Given the description of an element on the screen output the (x, y) to click on. 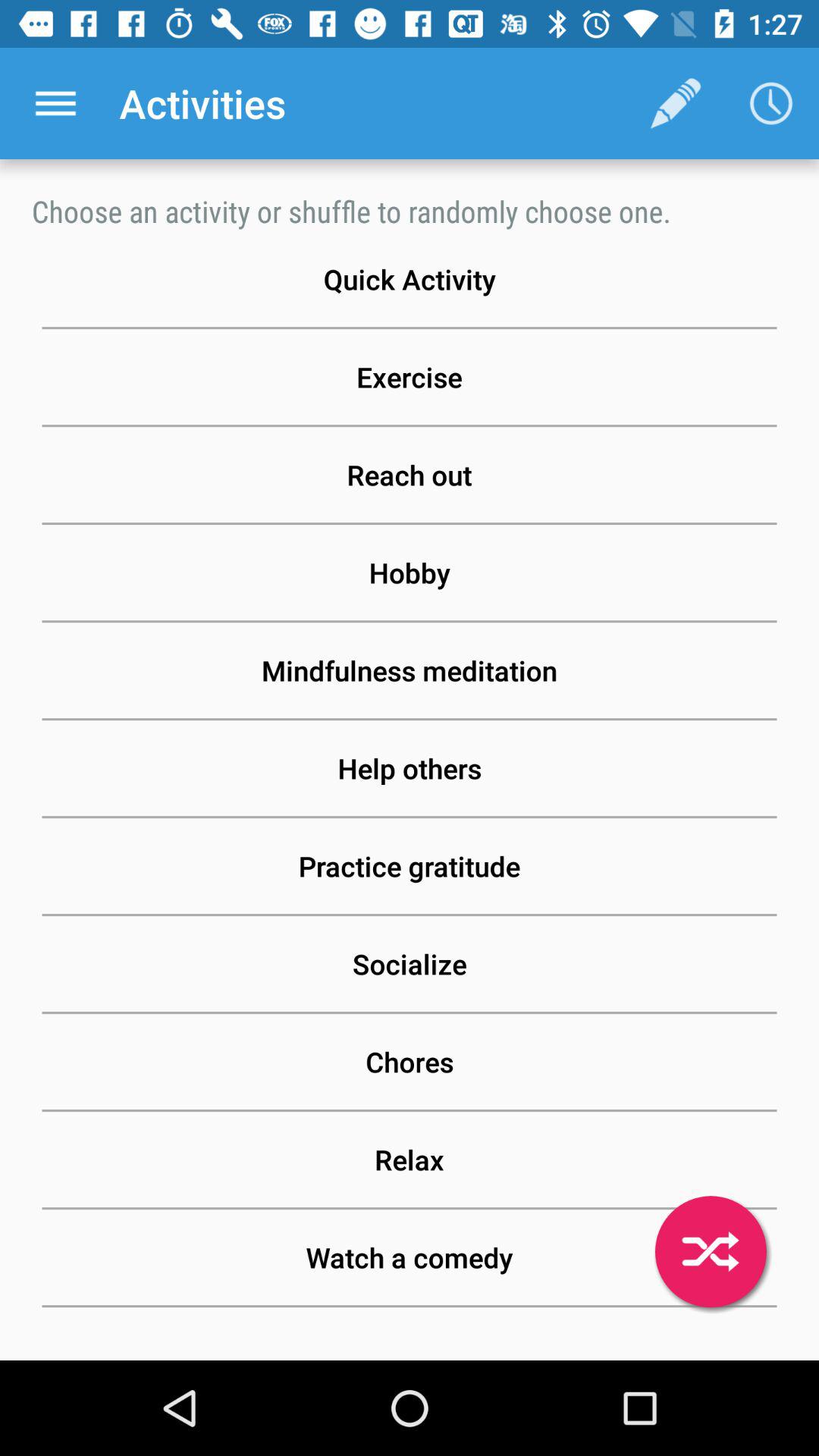
tap mindfulness meditation (409, 670)
